Given the description of an element on the screen output the (x, y) to click on. 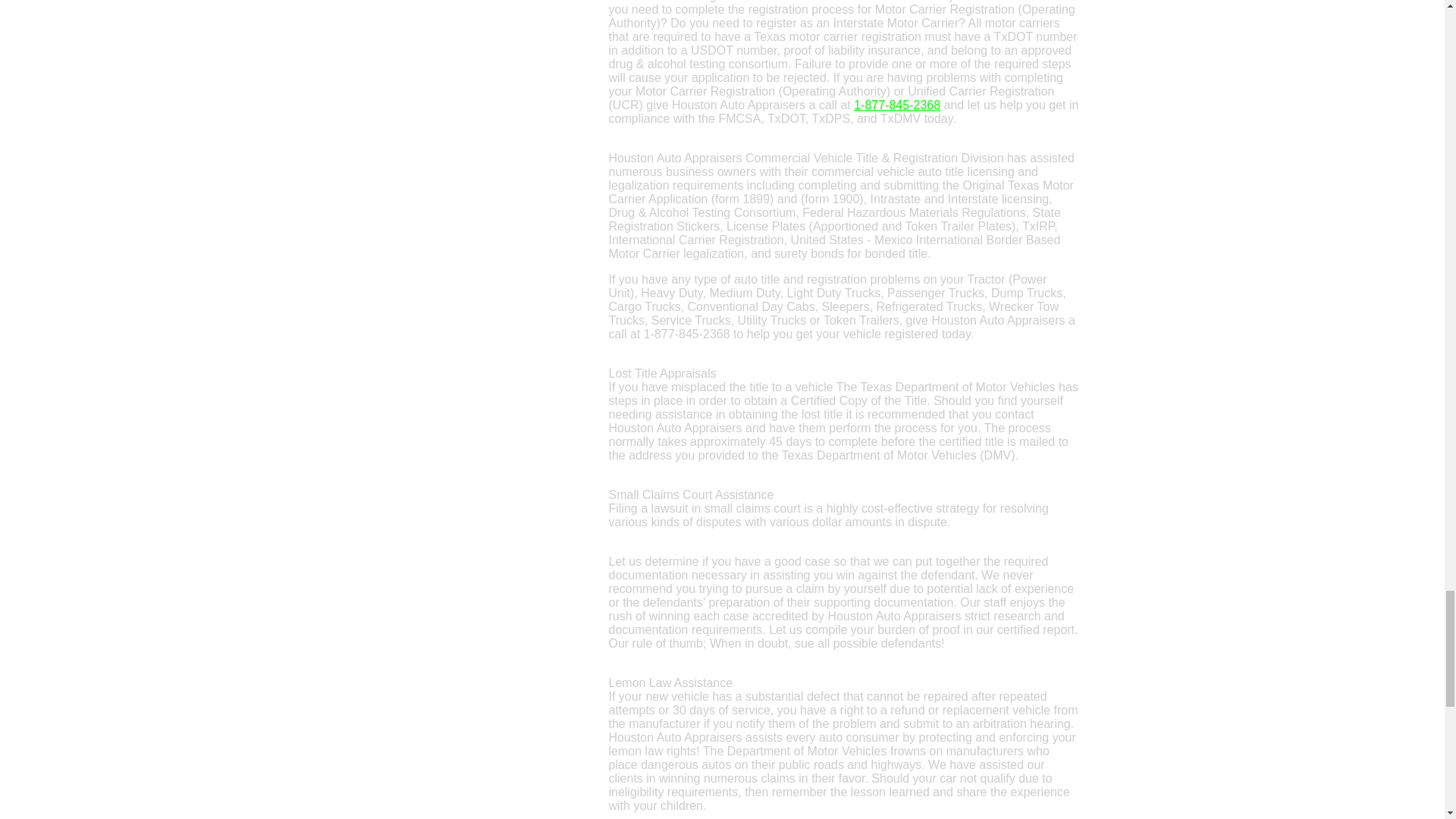
1-877-845-2368 (896, 104)
